Given the description of an element on the screen output the (x, y) to click on. 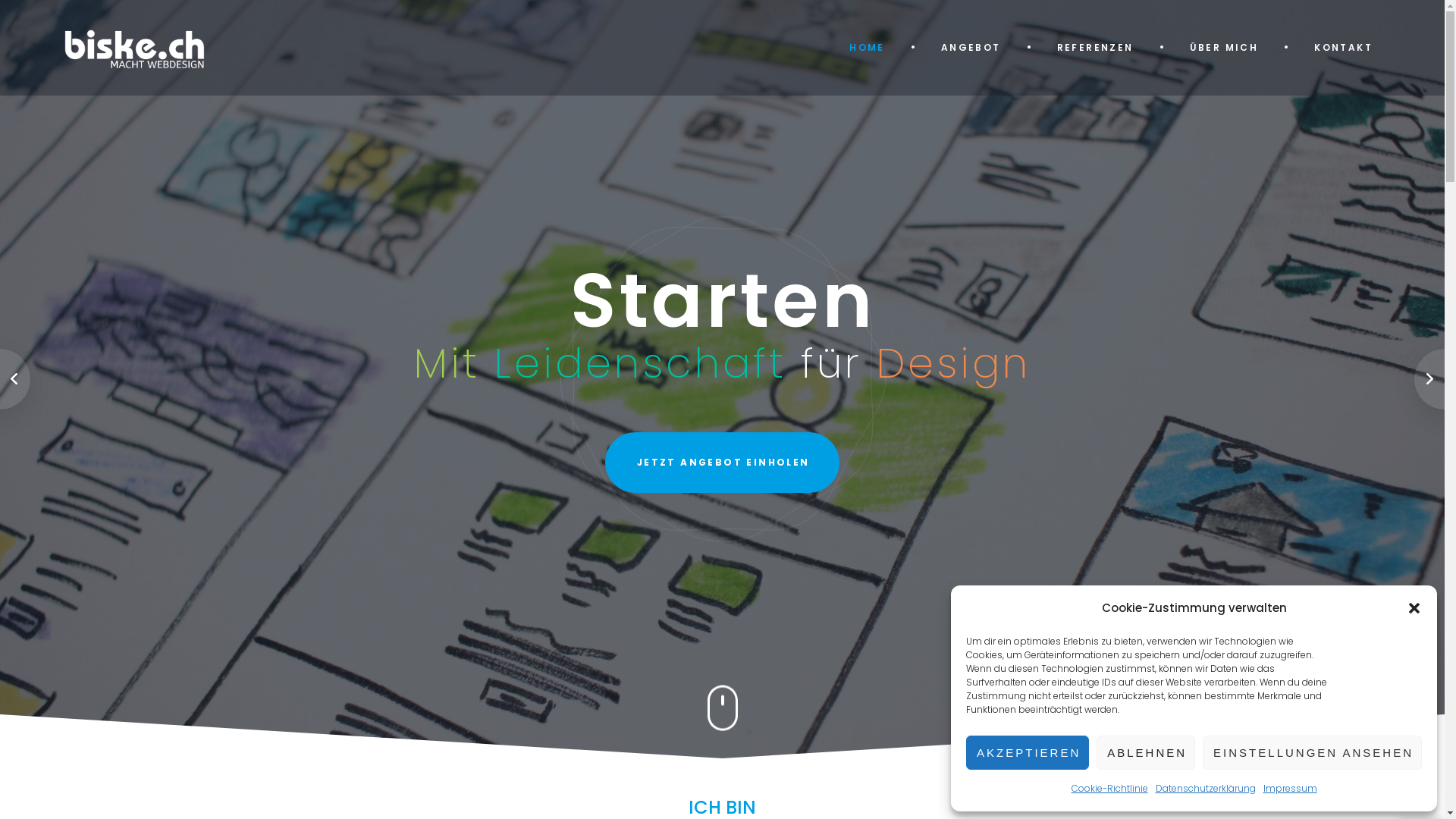
Cookie-Richtlinie Element type: text (1109, 788)
Impressum Element type: text (1290, 788)
KONTAKT Element type: text (1343, 47)
ANGEBOT Element type: text (972, 47)
HOME Element type: text (868, 47)
ABLEHNEN Element type: text (1145, 752)
EINSTELLUNGEN ANSEHEN Element type: text (1311, 752)
AKZEPTIEREN Element type: text (1027, 752)
JETZT ANGEBOT EINHOLEN Element type: text (721, 462)
REFERENZEN Element type: text (1096, 47)
